Given the description of an element on the screen output the (x, y) to click on. 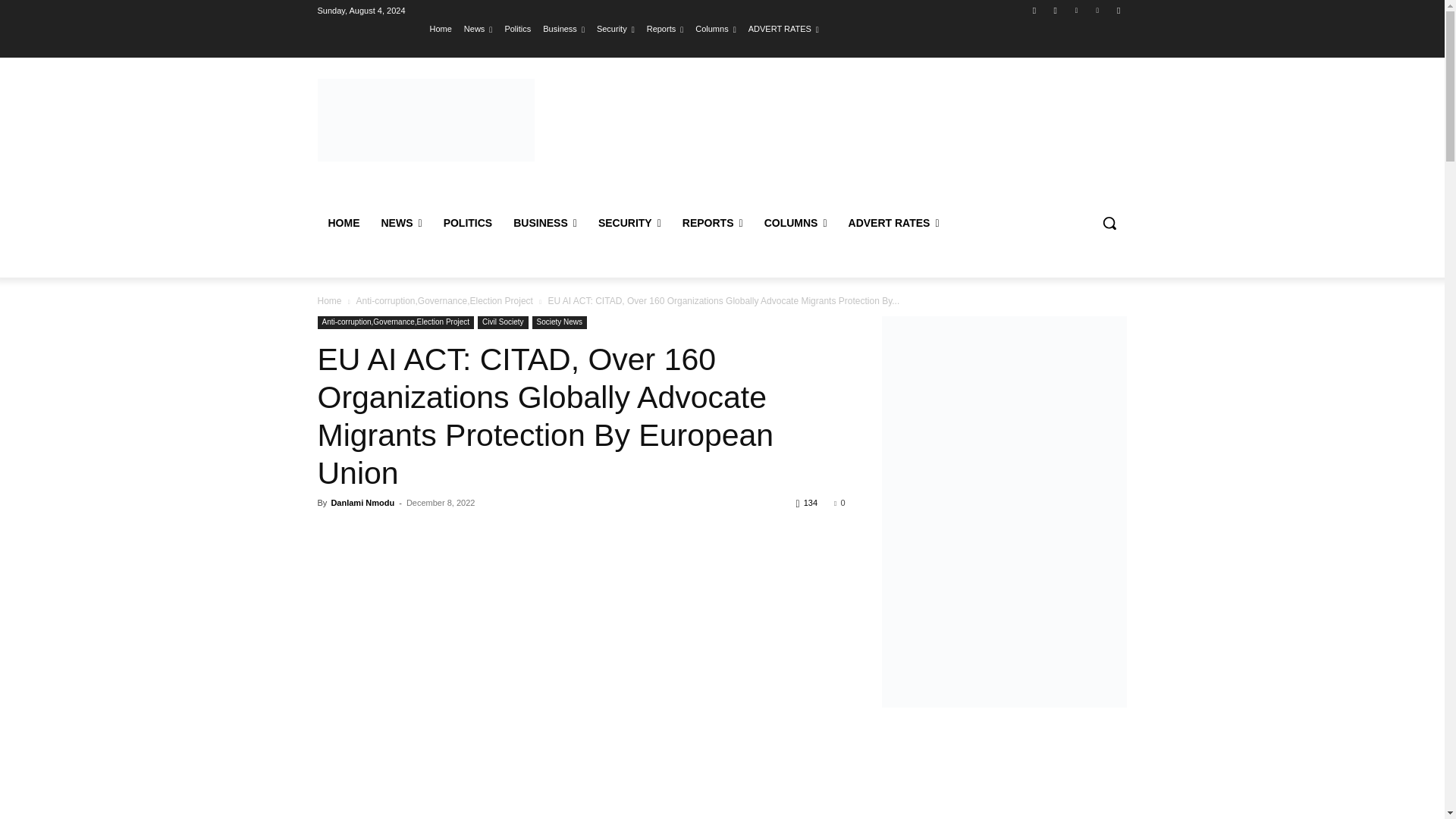
Instagram (1055, 9)
Youtube (1117, 9)
Vimeo (1097, 9)
Twitter (1075, 9)
Facebook (1034, 9)
